Given the description of an element on the screen output the (x, y) to click on. 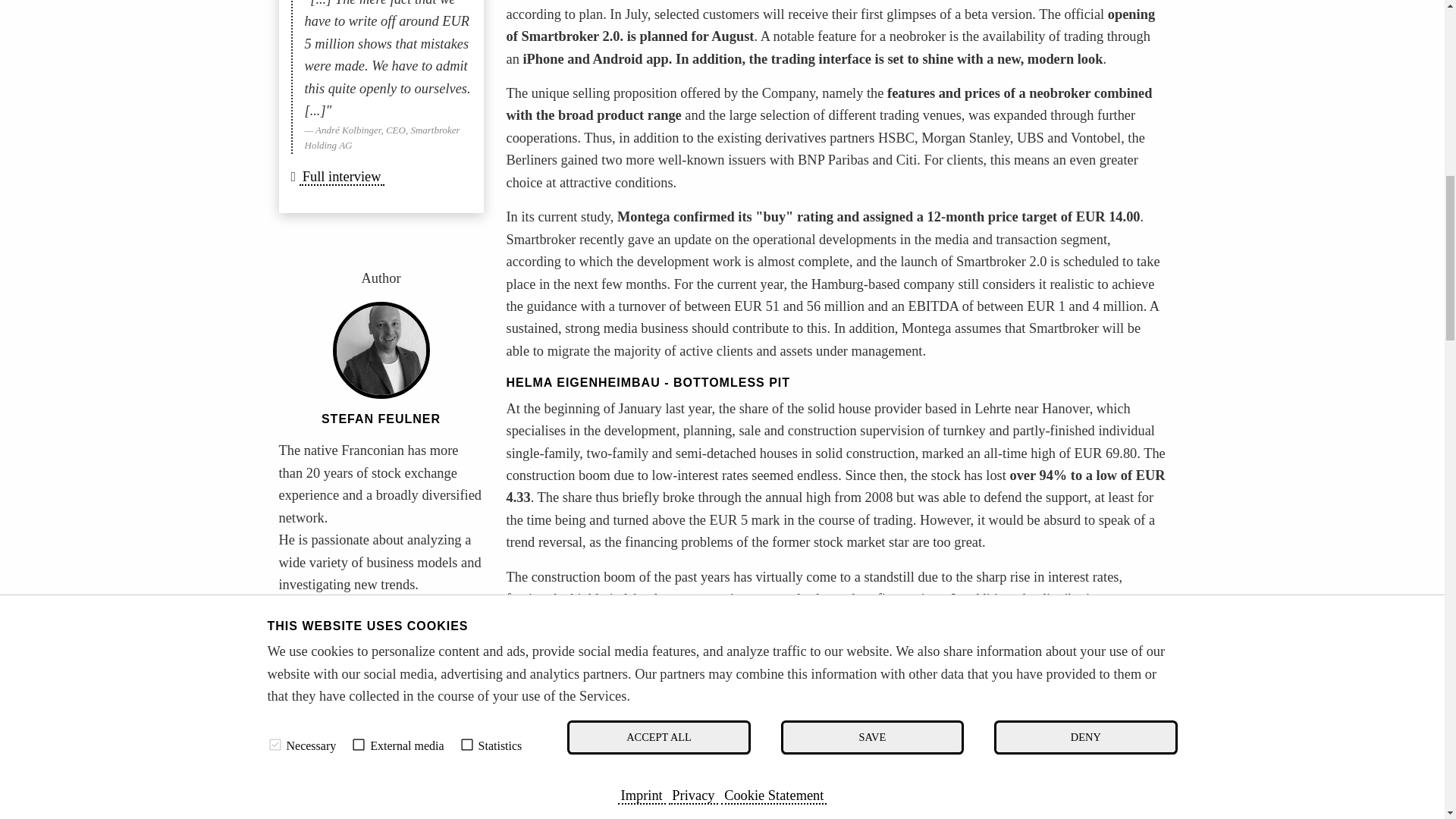
Stefan Feulner (381, 418)
SUSTAINABILITY (333, 706)
Full interview (341, 176)
HYDROGEN (320, 691)
FINTECH (314, 786)
Stefan Feulner (380, 350)
CARBONCREDITS (422, 691)
DIGITIZATION (325, 769)
DATA (405, 754)
COMMODITIES (328, 754)
STEFAN FEULNER (381, 418)
AI (452, 754)
HIGHTECH (414, 769)
Stefan Feulner (329, 619)
RENEWABLEENERGIES (349, 723)
